Given the description of an element on the screen output the (x, y) to click on. 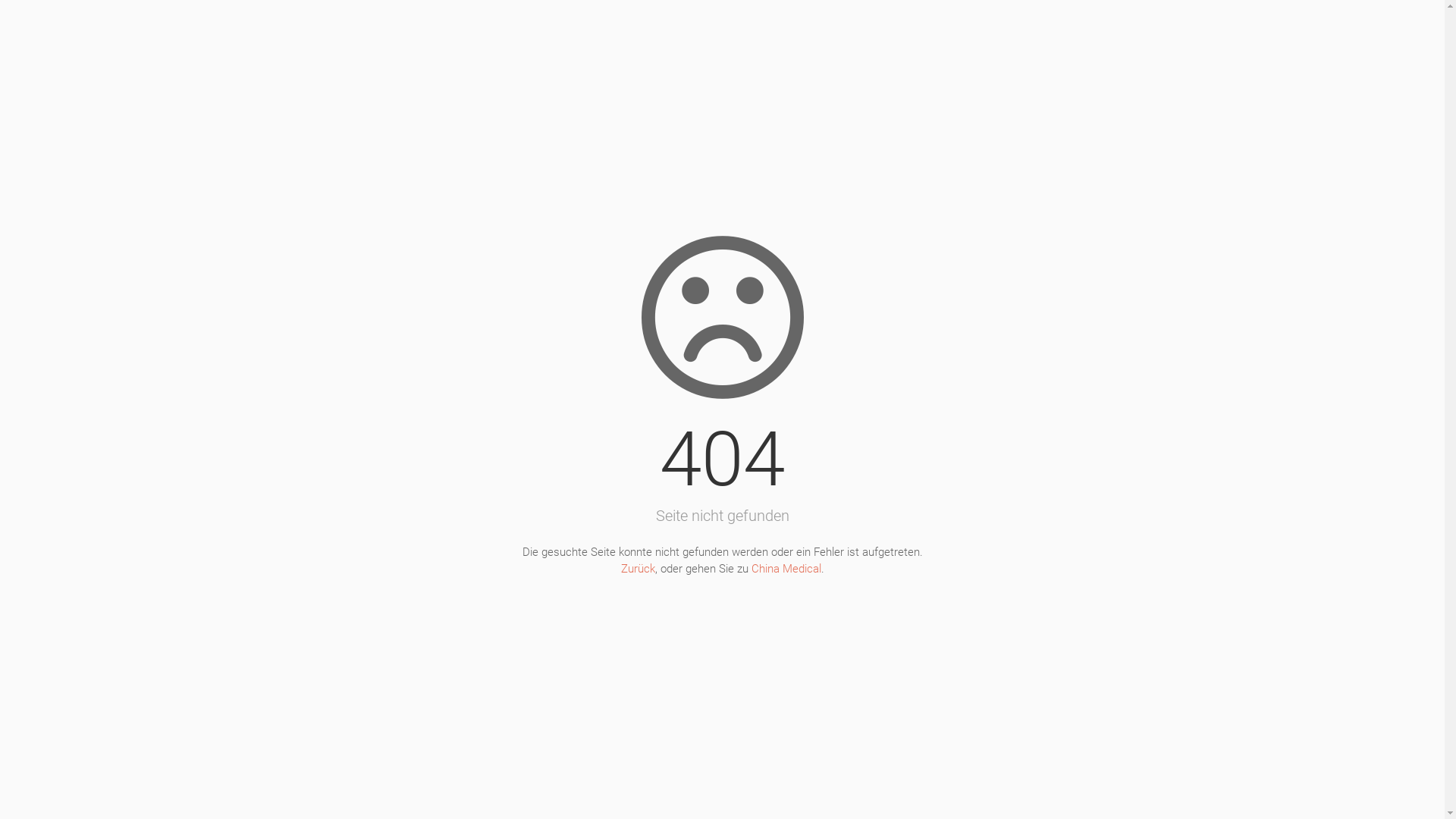
China Medical Element type: text (785, 568)
